Given the description of an element on the screen output the (x, y) to click on. 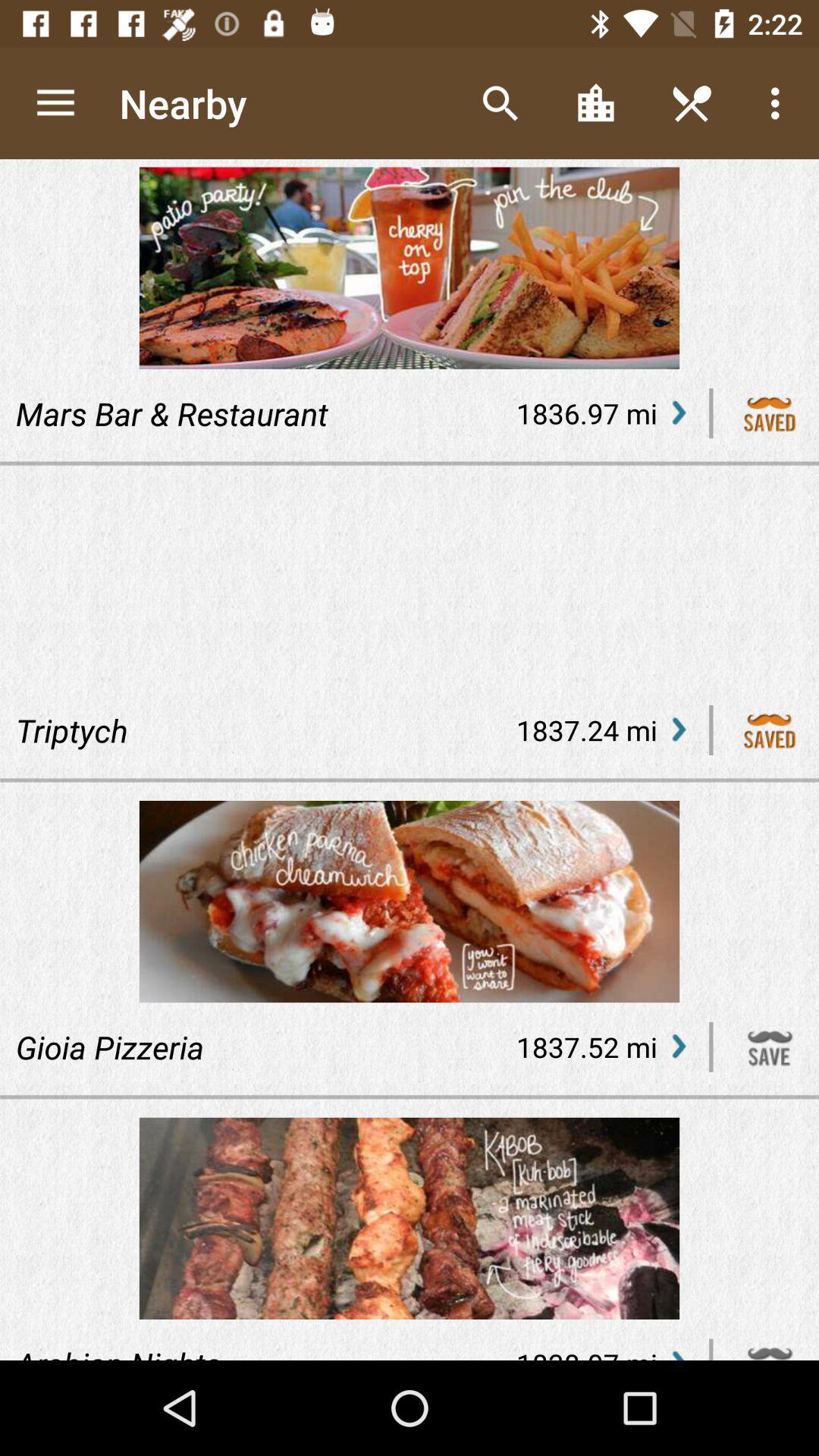
tap item to the left of nearby app (55, 103)
